Given the description of an element on the screen output the (x, y) to click on. 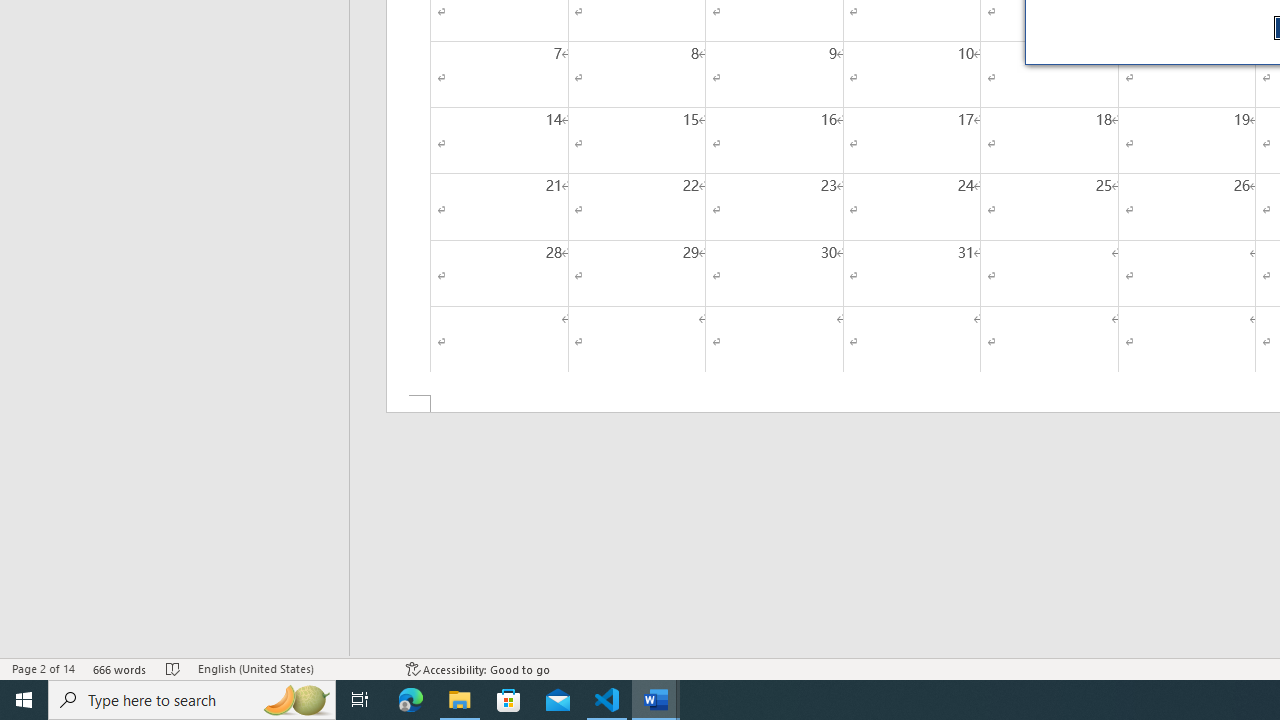
Word Count 666 words (119, 668)
Type here to search (191, 699)
Start (24, 699)
Task View (359, 699)
Language English (United States) (292, 668)
Page Number Page 2 of 14 (43, 668)
File Explorer - 1 running window (460, 699)
Search highlights icon opens search home window (295, 699)
Visual Studio Code - 1 running window (607, 699)
Accessibility Checker Accessibility: Good to go (478, 668)
Word - 2 running windows (656, 699)
Microsoft Store (509, 699)
Microsoft Edge (411, 699)
